Given the description of an element on the screen output the (x, y) to click on. 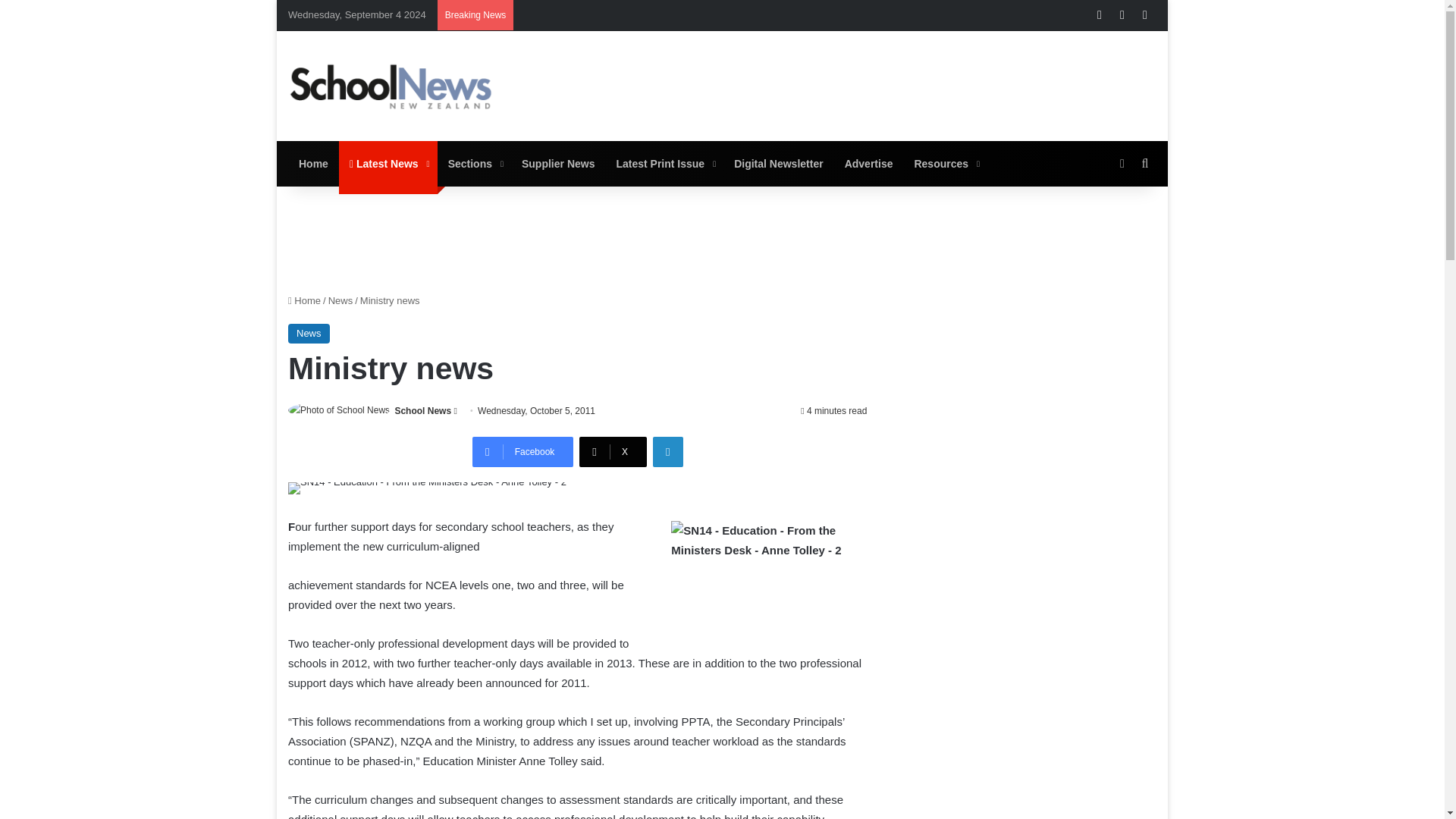
Latest Print Issue (664, 163)
Sections (474, 163)
Home (304, 300)
Supplier News (558, 163)
X (612, 451)
Advertise (869, 163)
News (341, 300)
Facebook (522, 451)
News (309, 333)
School News (422, 410)
